Given the description of an element on the screen output the (x, y) to click on. 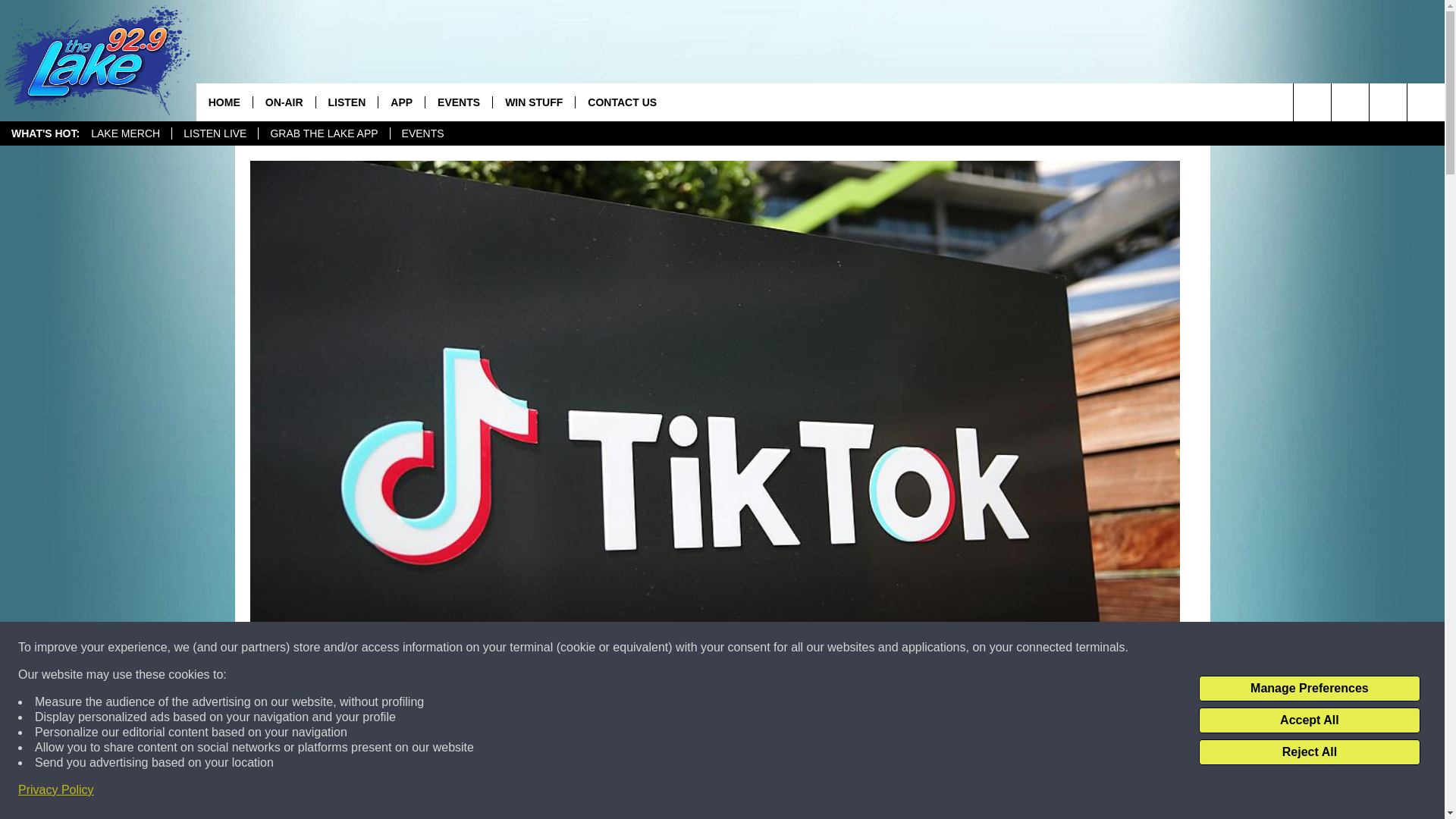
WIN STUFF (533, 102)
APP (401, 102)
EVENTS (422, 133)
Share on Twitter (912, 791)
Privacy Policy (55, 789)
CONTACT US (621, 102)
Accept All (1309, 720)
LISTEN (346, 102)
Manage Preferences (1309, 688)
HOME (223, 102)
LAKE MERCH (125, 133)
ON-AIR (283, 102)
GRAB THE LAKE APP (322, 133)
LISTEN LIVE (214, 133)
Share on Facebook (517, 791)
